Given the description of an element on the screen output the (x, y) to click on. 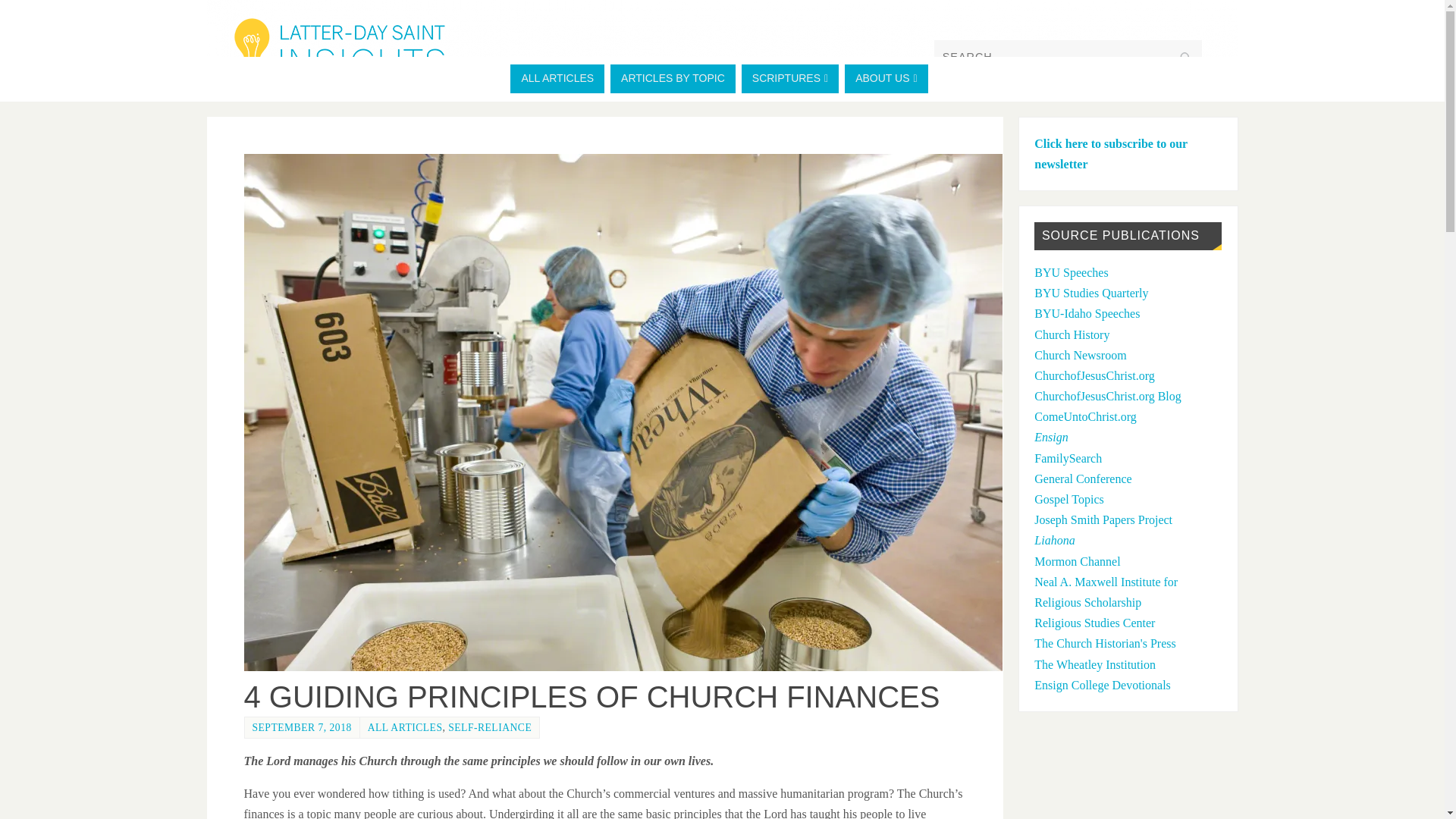
ALL ARTICLES (405, 727)
4 Guiding Principles of Church Finances (632, 666)
SCRIPTURES (789, 78)
ALL ARTICLES (557, 78)
Latter-day Saint Insights (721, 45)
Latter-day Saint Insights (338, 51)
SELF-RELIANCE (489, 727)
ABOUT US (885, 78)
SEPTEMBER 7, 2018 (300, 727)
ARTICLES BY TOPIC (672, 78)
